Given the description of an element on the screen output the (x, y) to click on. 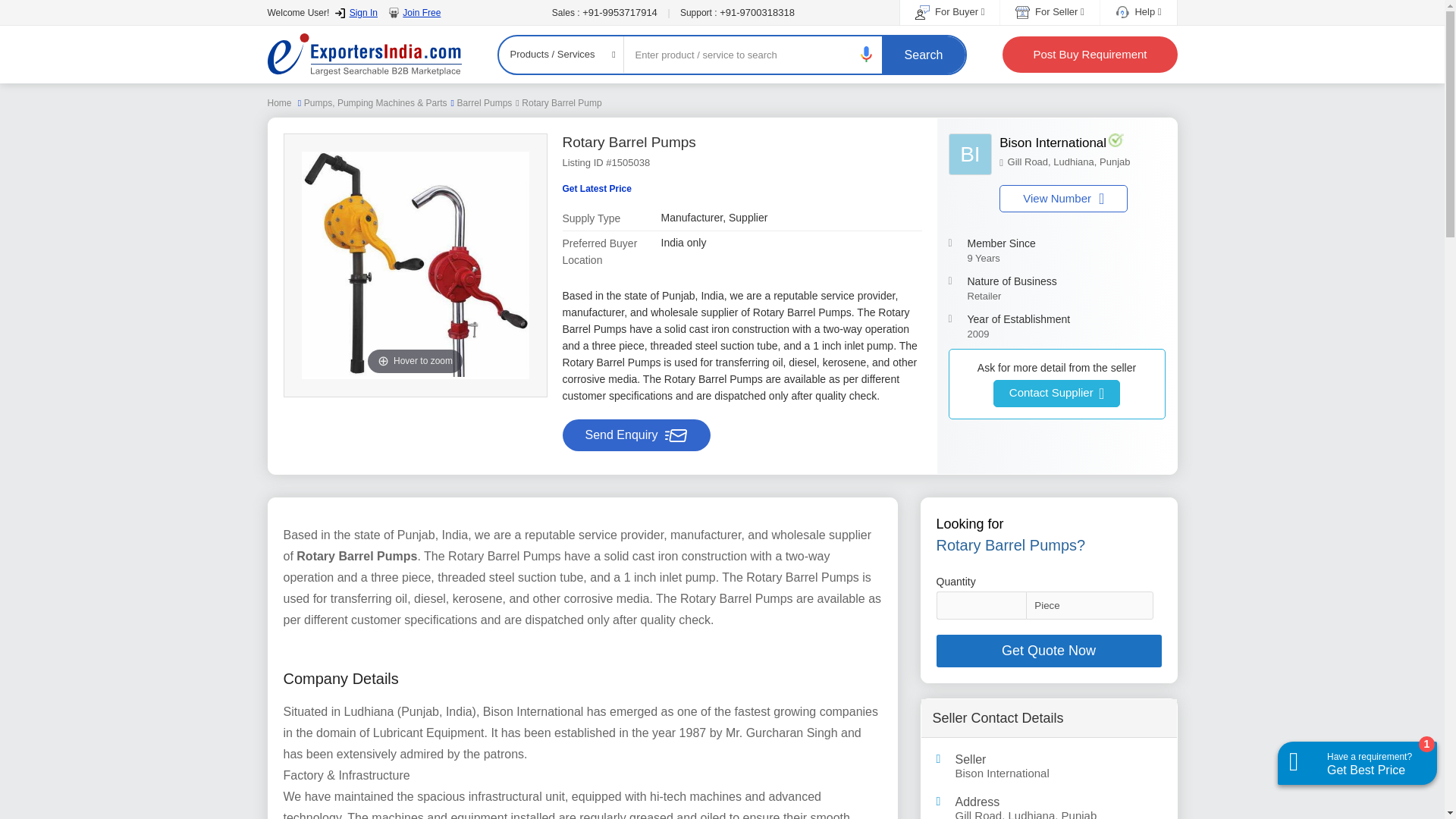
Post Buy Requirement (1089, 54)
Rotary Barrel Pump (561, 102)
Login to Exportersindia (355, 12)
Get Latest Price (596, 189)
Help (1138, 11)
For Seller (1048, 11)
Sign In (355, 12)
Exporters India (1081, 151)
For Buyer (363, 54)
Get Quote Now (949, 11)
Verified (1048, 650)
View Number (1116, 140)
BI (1062, 198)
Contact Supplier (969, 154)
